Given the description of an element on the screen output the (x, y) to click on. 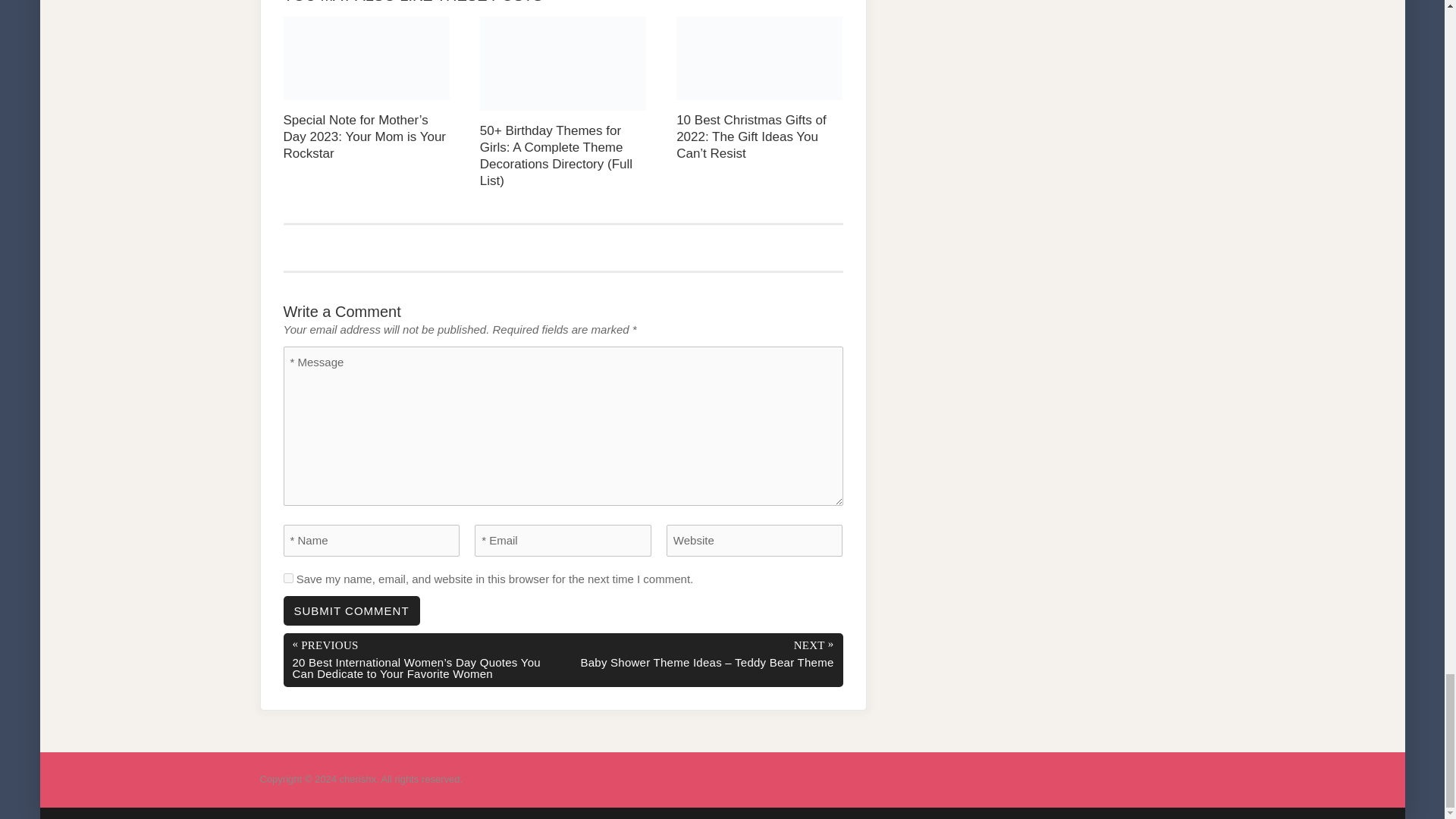
Submit Comment (351, 610)
Submit Comment (351, 610)
yes (288, 578)
